Given the description of an element on the screen output the (x, y) to click on. 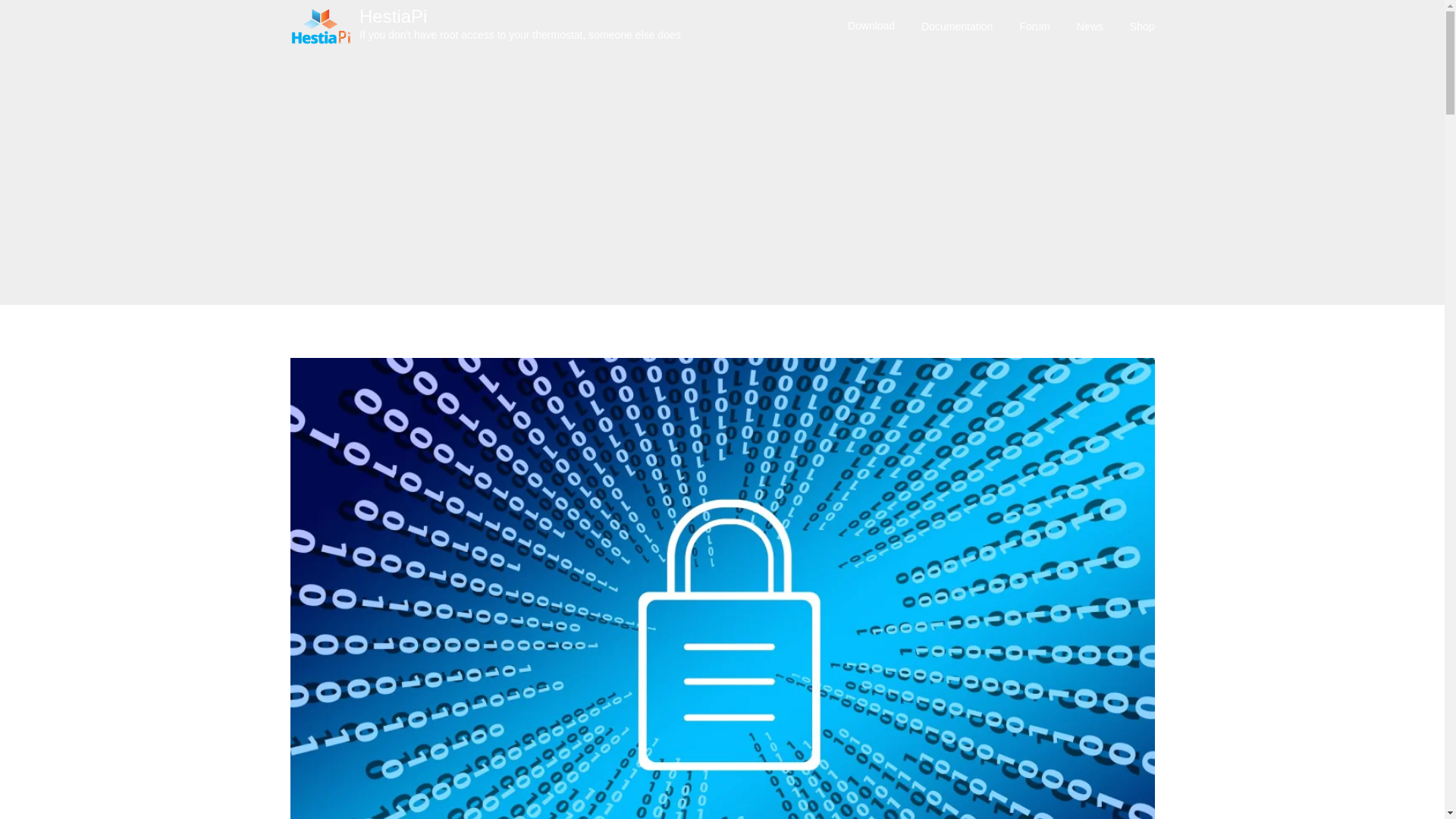
HestiaPi (520, 23)
Documentation (956, 27)
